Given the description of an element on the screen output the (x, y) to click on. 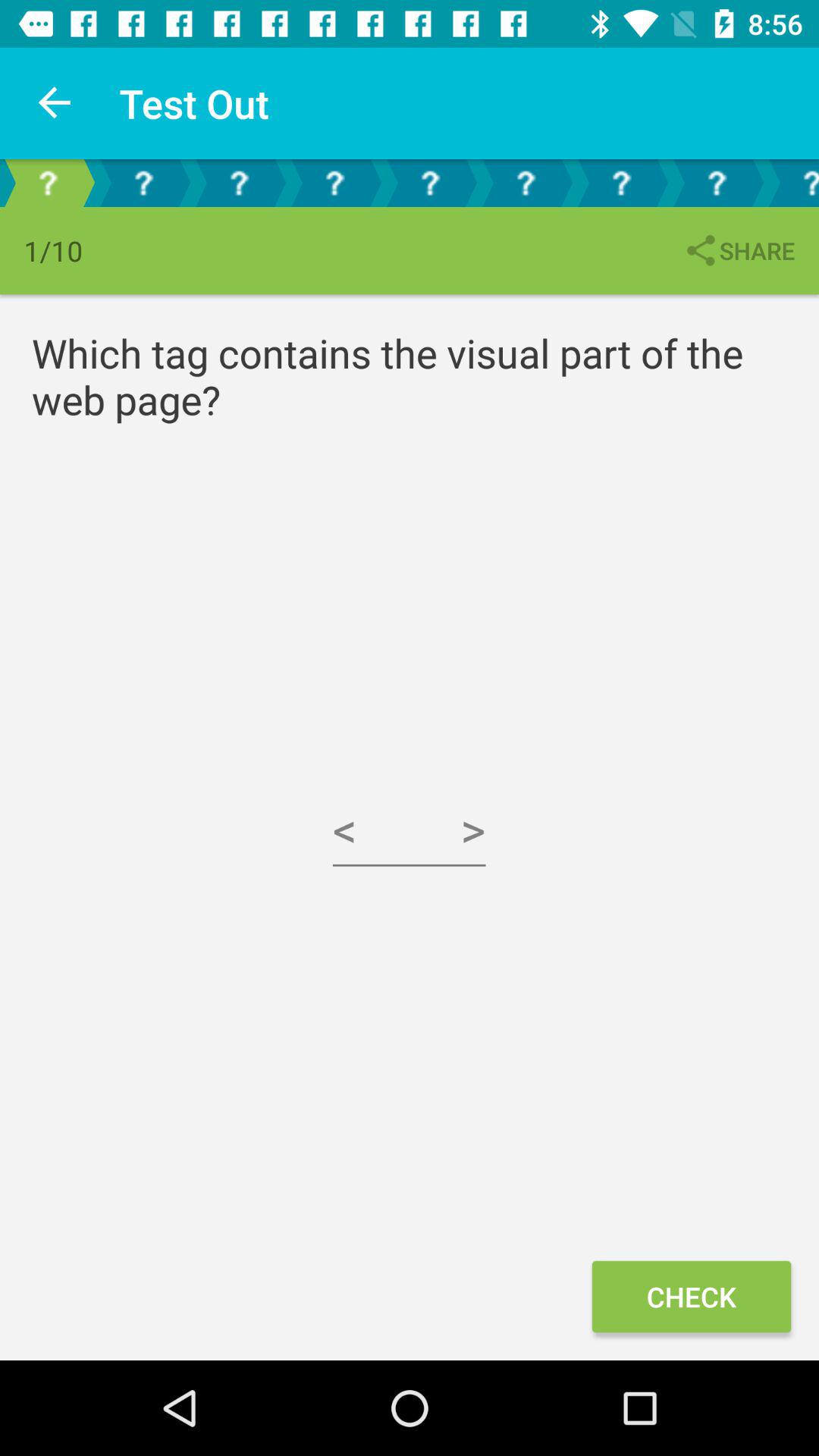
option (238, 183)
